Given the description of an element on the screen output the (x, y) to click on. 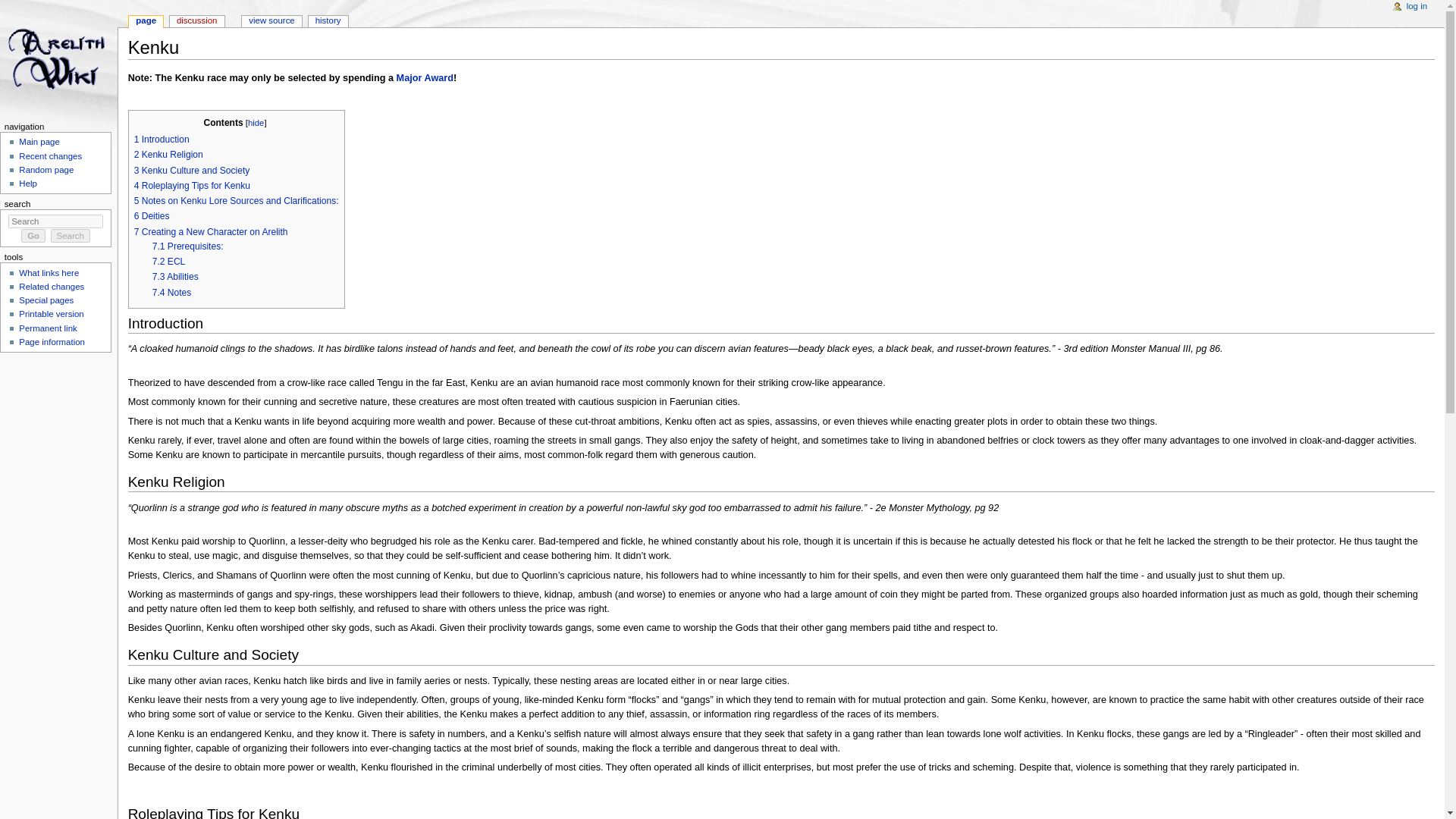
2 Kenku Religion (168, 154)
1 Introduction (161, 139)
Go (33, 235)
Epic Sacrifice (424, 77)
hide (255, 122)
7.2 ECL (169, 261)
7 Creating a New Character on Arelith (210, 231)
Major Award (424, 77)
6 Deities (151, 215)
7.3 Abilities (175, 276)
5 Notes on Kenku Lore Sources and Clarifications: (236, 200)
7.1 Prerequisites: (188, 245)
Go (33, 235)
3 Kenku Culture and Society (191, 170)
Search (70, 235)
